Given the description of an element on the screen output the (x, y) to click on. 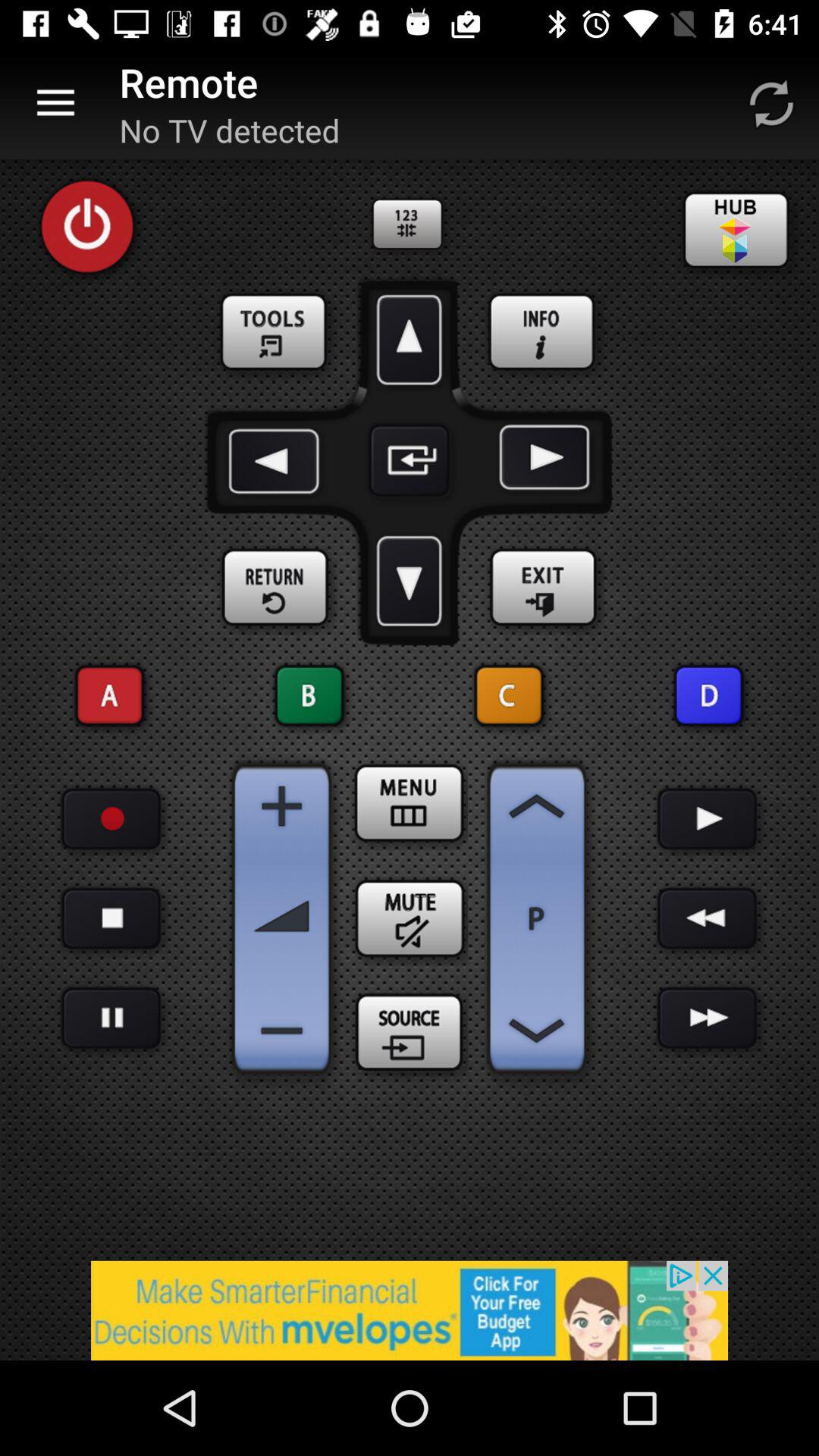
refresh remote options (771, 103)
